Given the description of an element on the screen output the (x, y) to click on. 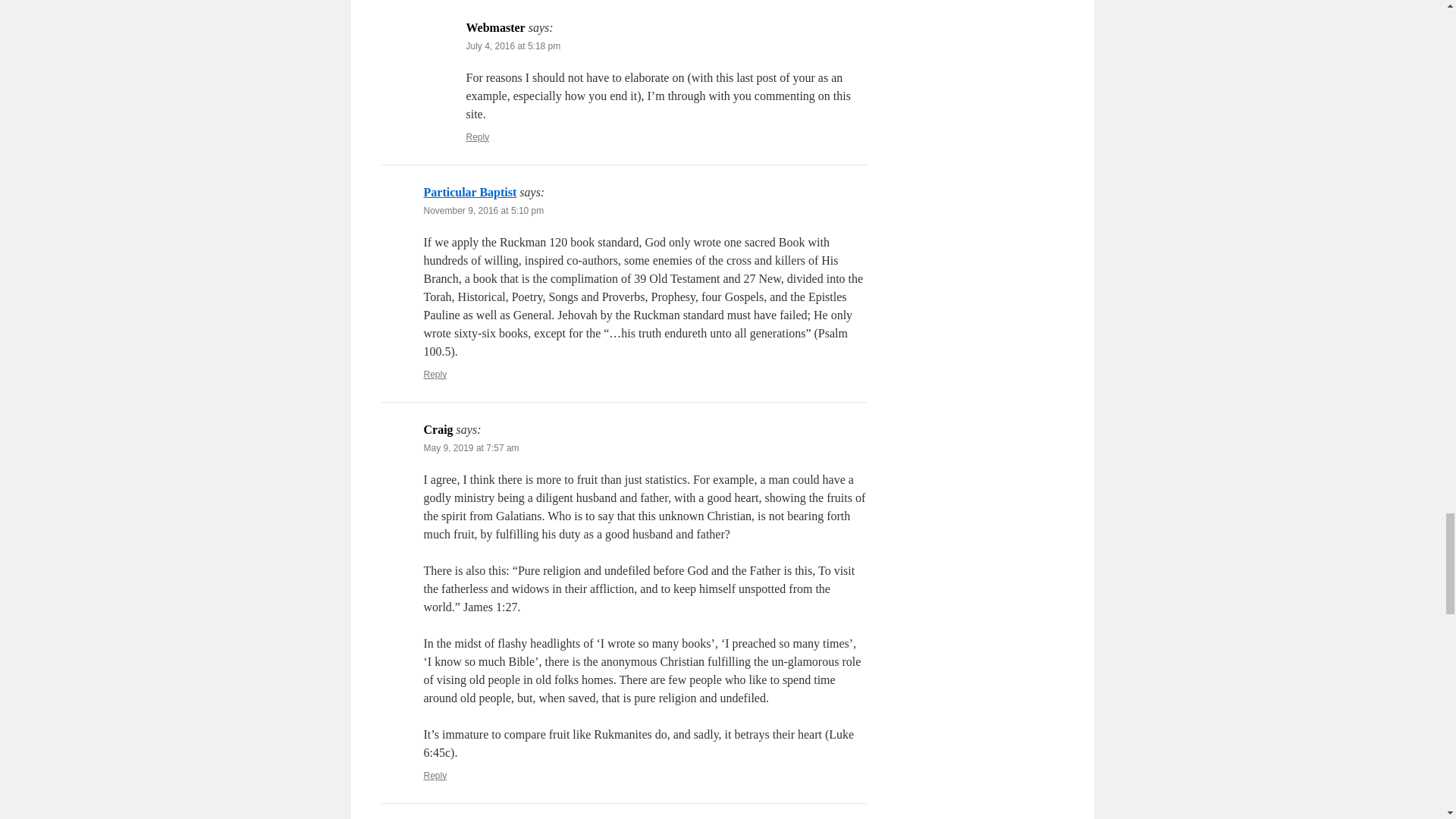
November 9, 2016 at 5:10 pm (483, 210)
Particular Baptist (469, 192)
July 4, 2016 at 5:18 pm (512, 45)
May 9, 2019 at 7:57 am (470, 448)
Reply (434, 775)
Reply (477, 136)
Reply (434, 374)
